Given the description of an element on the screen output the (x, y) to click on. 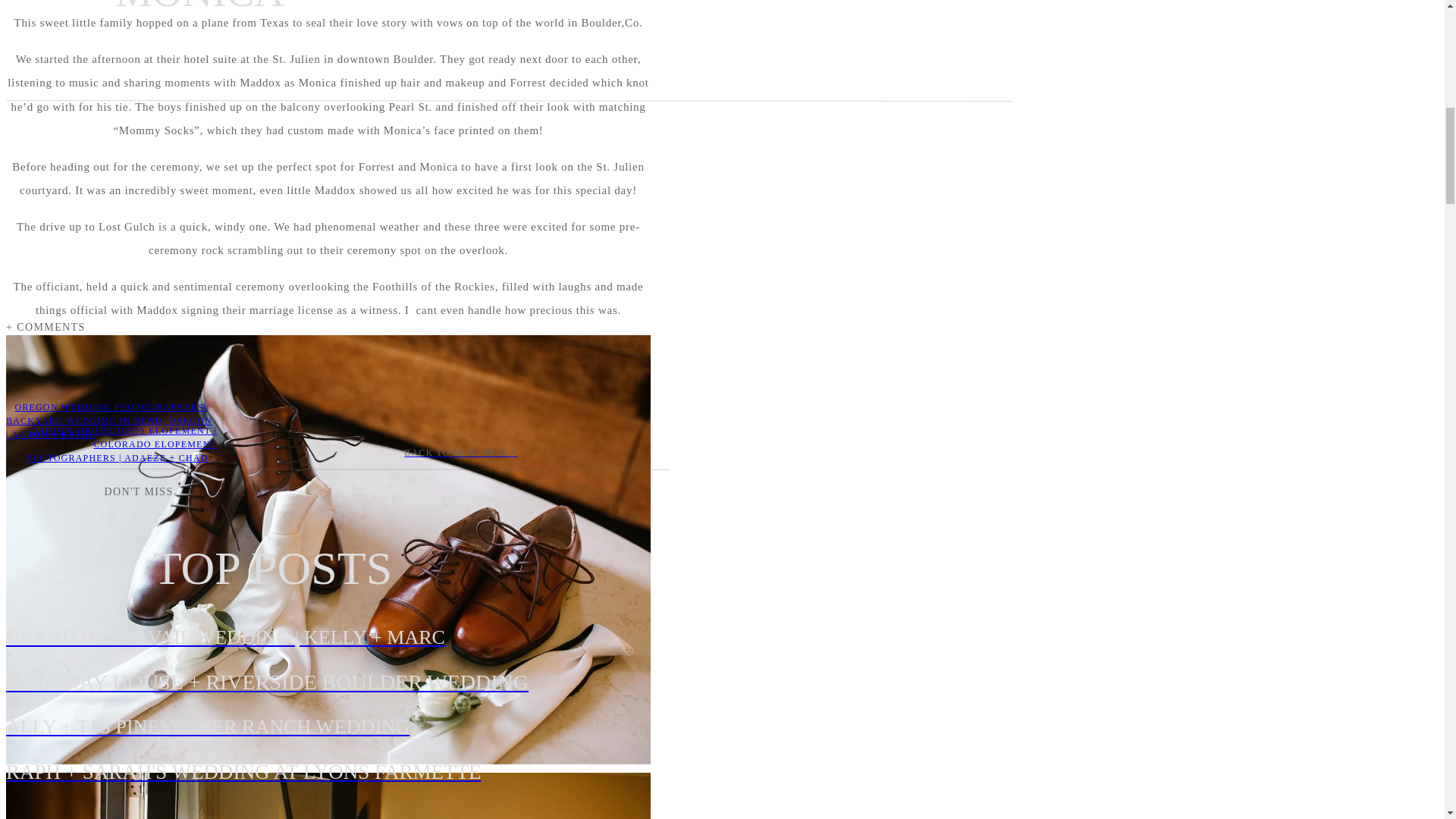
BACK TO BLOG INDEX (460, 452)
